Given the description of an element on the screen output the (x, y) to click on. 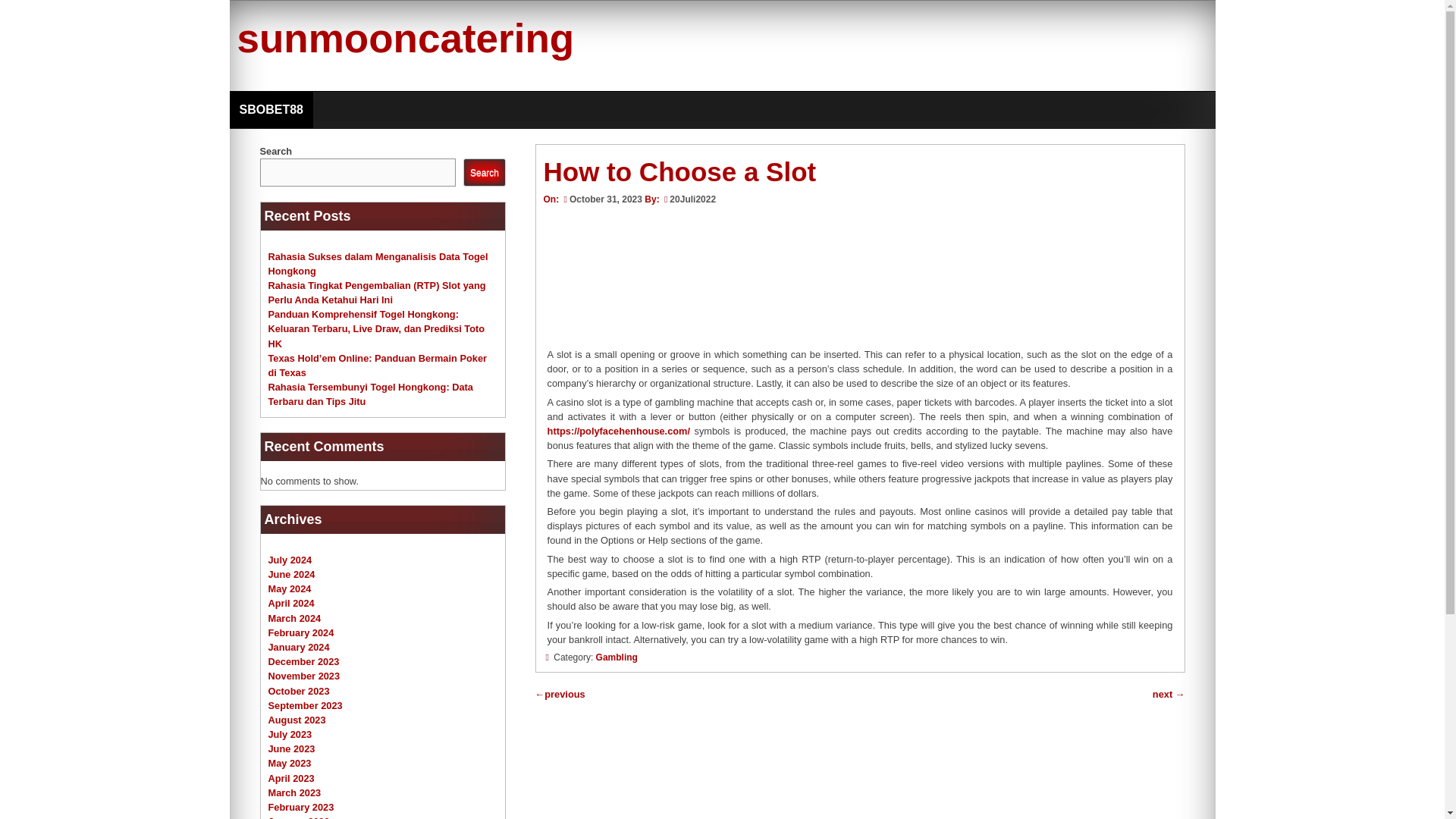
July 2024 (290, 559)
May 2023 (289, 763)
November 2023 (303, 675)
February 2024 (300, 632)
August 2023 (296, 719)
sunmooncatering (404, 37)
December 2023 (303, 661)
January 2024 (298, 646)
October 2023 (298, 690)
May 2024 (289, 588)
Gambling (616, 656)
January 2023 (298, 817)
March 2023 (294, 792)
June 2023 (291, 748)
SBOBET88 (270, 109)
